Given the description of an element on the screen output the (x, y) to click on. 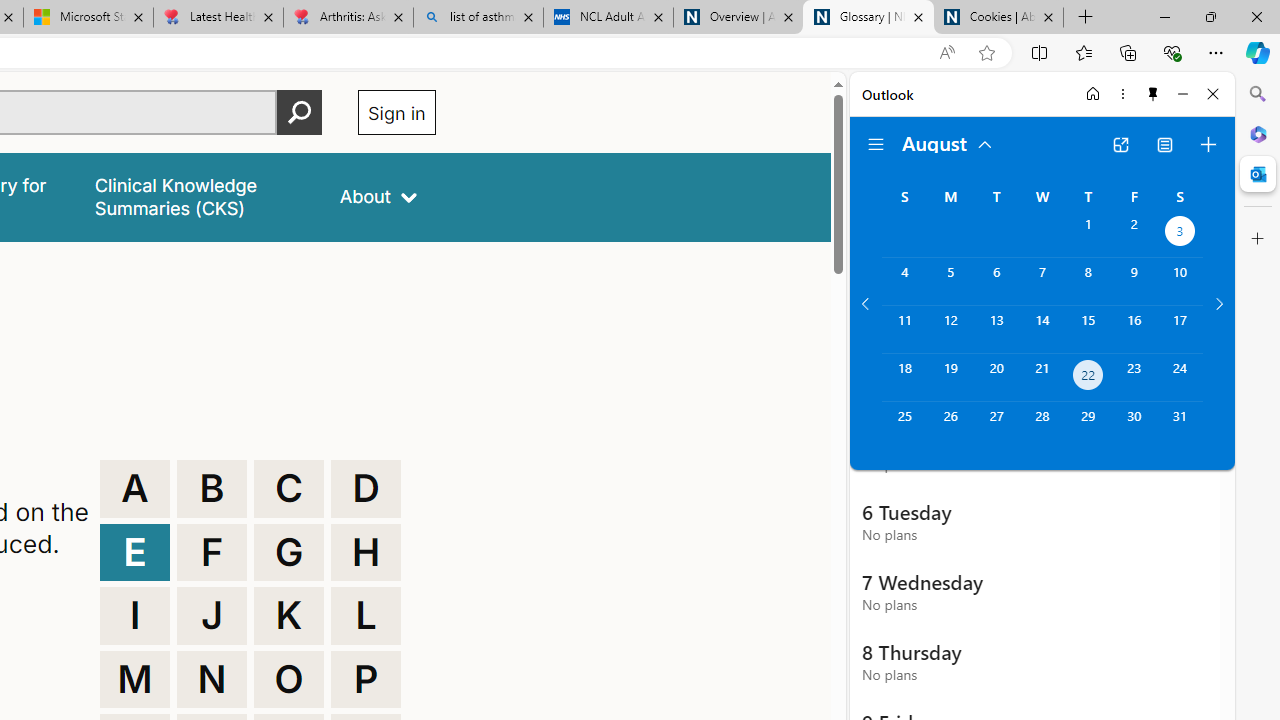
Folder navigation (876, 144)
August (948, 141)
Microsoft Start (88, 17)
Thursday, August 1, 2024.  (1088, 233)
Favorites (1083, 52)
H (365, 551)
D (365, 488)
F (212, 551)
Close (1213, 93)
Thursday, August 15, 2024.  (1088, 329)
Open in new tab (1120, 144)
Wednesday, August 7, 2024.  (1042, 281)
Browser essentials (1171, 52)
K (289, 615)
Monday, August 26, 2024.  (950, 425)
